Given the description of an element on the screen output the (x, y) to click on. 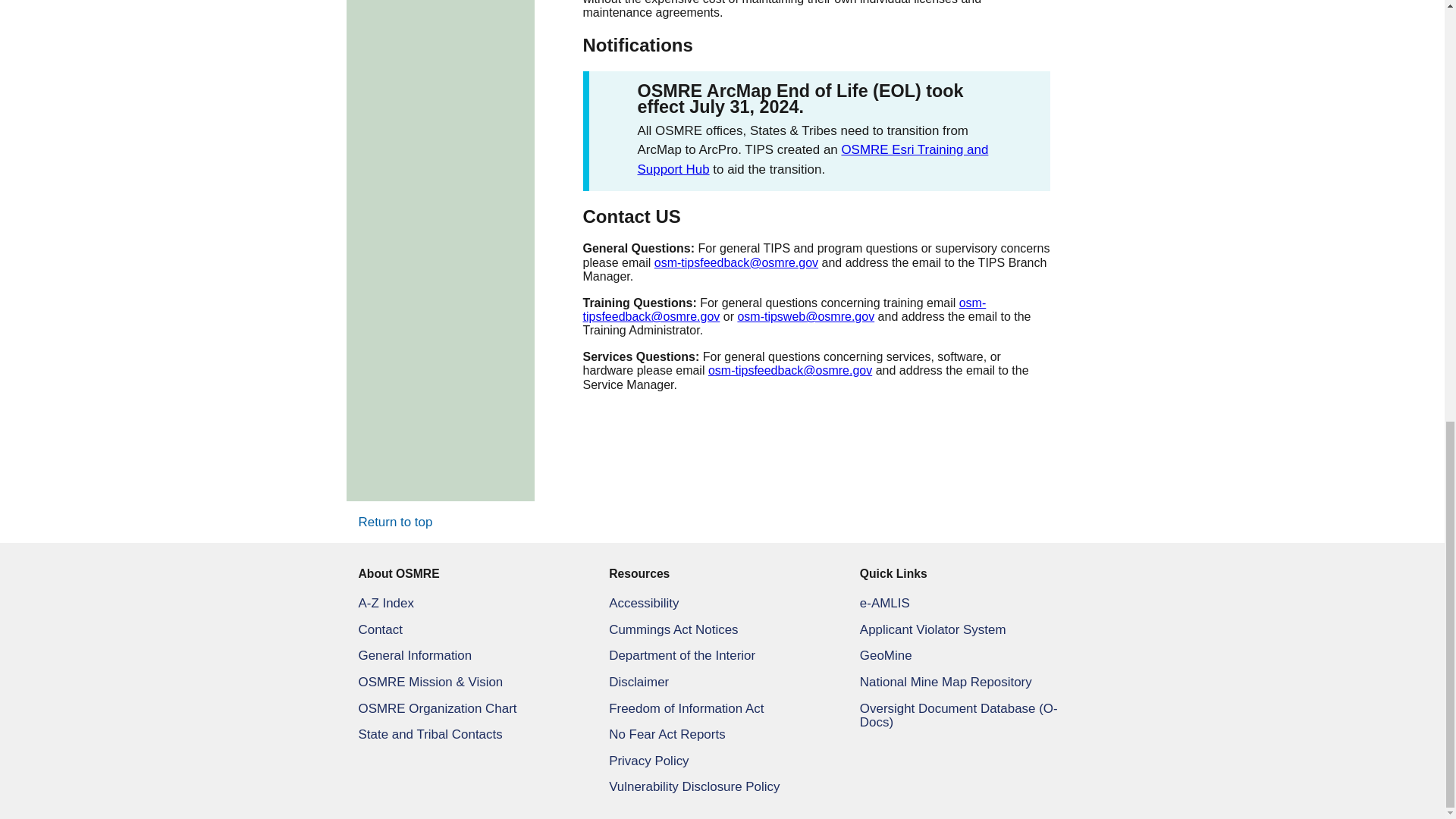
A-Z Index (385, 603)
OSMRE Organization Chart (437, 708)
Freedom of Information Act (685, 708)
No Fear Act Report Repository (666, 734)
Resources (721, 574)
State and Tribal Contacts (430, 734)
State and Tribal Contacts (430, 734)
Privacy Policy (648, 760)
Accessibility (643, 603)
